Given the description of an element on the screen output the (x, y) to click on. 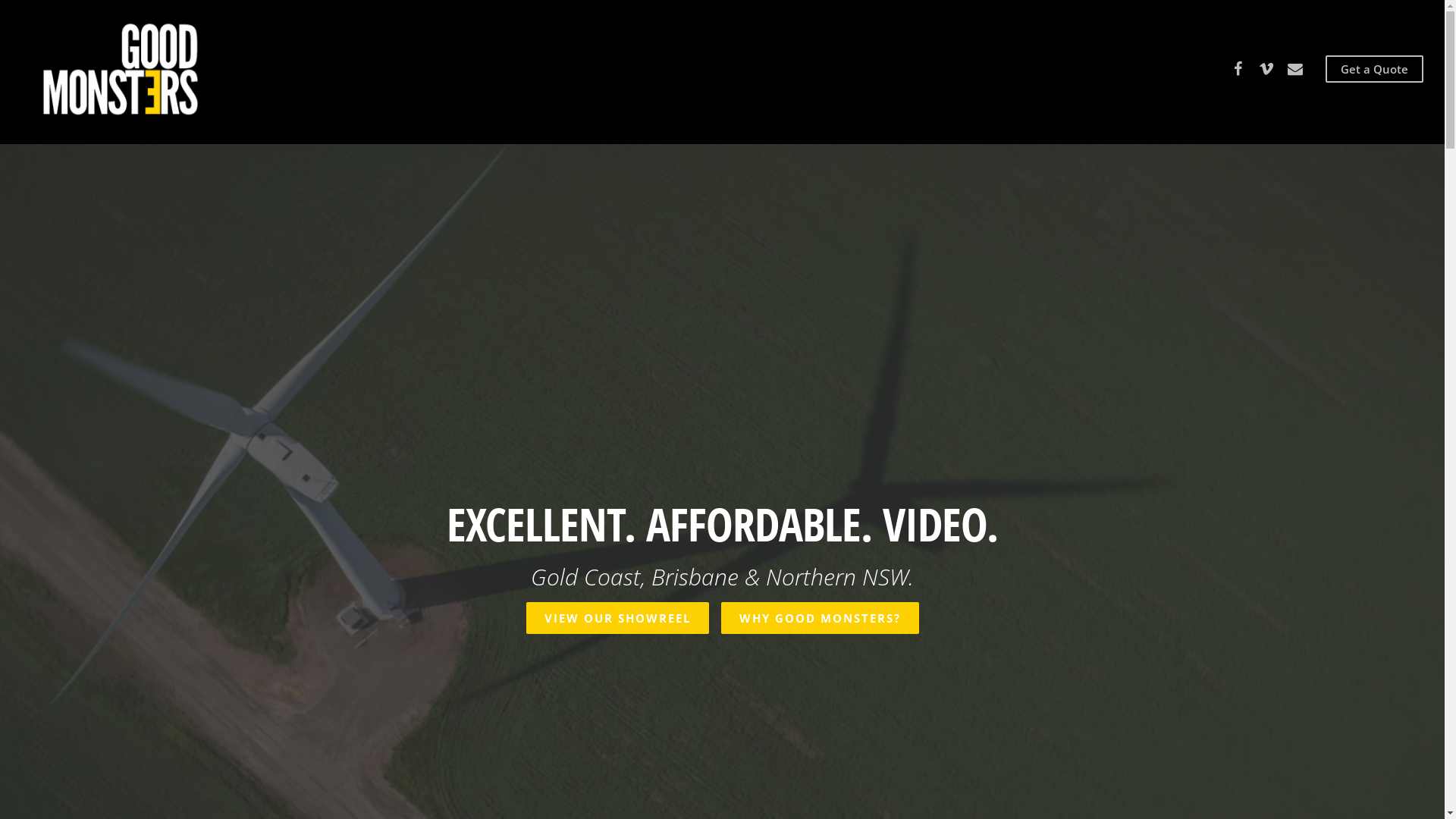
VIEW OUR SHOWREEL Element type: text (617, 618)
WHY GOOD MONSTERS? Element type: text (820, 618)
vimeo Element type: text (1266, 68)
email Element type: text (1294, 68)
vimeo Element type: text (722, 709)
Get a Quote Element type: text (1374, 68)
linkedin Element type: text (775, 709)
facebook Element type: text (1237, 68)
facebook Element type: text (669, 709)
